Given the description of an element on the screen output the (x, y) to click on. 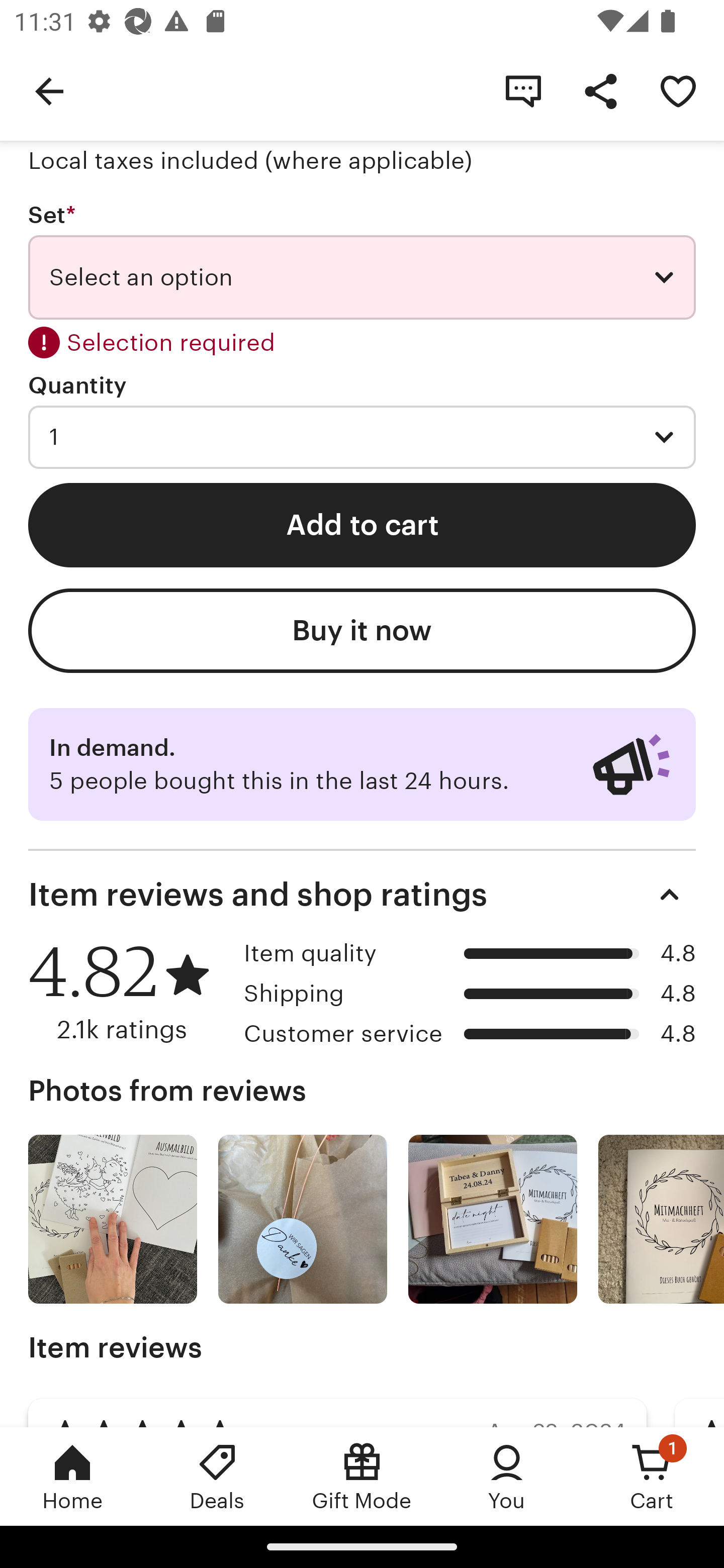
Navigate up (49, 90)
Contact shop (523, 90)
Share (600, 90)
Select an option (361, 277)
Quantity (77, 385)
1 (361, 437)
Add to cart (361, 524)
Buy it now (361, 630)
Item reviews and shop ratings (362, 894)
4.82 2.1k ratings (128, 992)
Photo from review (112, 1219)
Photo from review (302, 1219)
Photo from review (492, 1219)
Photo from review (661, 1219)
Deals (216, 1475)
Gift Mode (361, 1475)
You (506, 1475)
Cart, 1 new notification Cart (651, 1475)
